Given the description of an element on the screen output the (x, y) to click on. 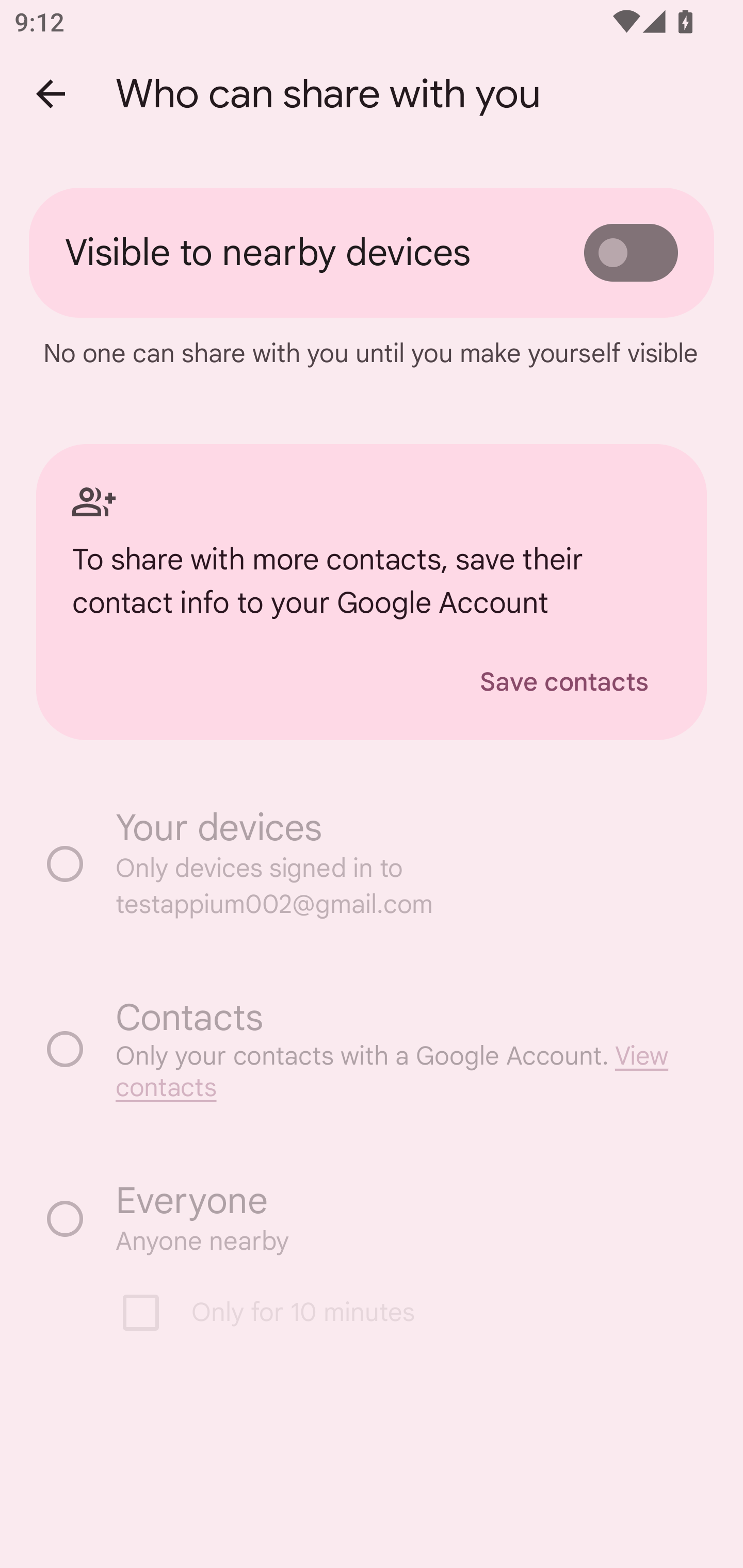
Back (50, 93)
Visible to nearby devices (371, 253)
Save contacts (564, 682)
Everyone Anyone nearby Only for 10 minutes (371, 1265)
Only for 10 minutes (382, 1313)
